Given the description of an element on the screen output the (x, y) to click on. 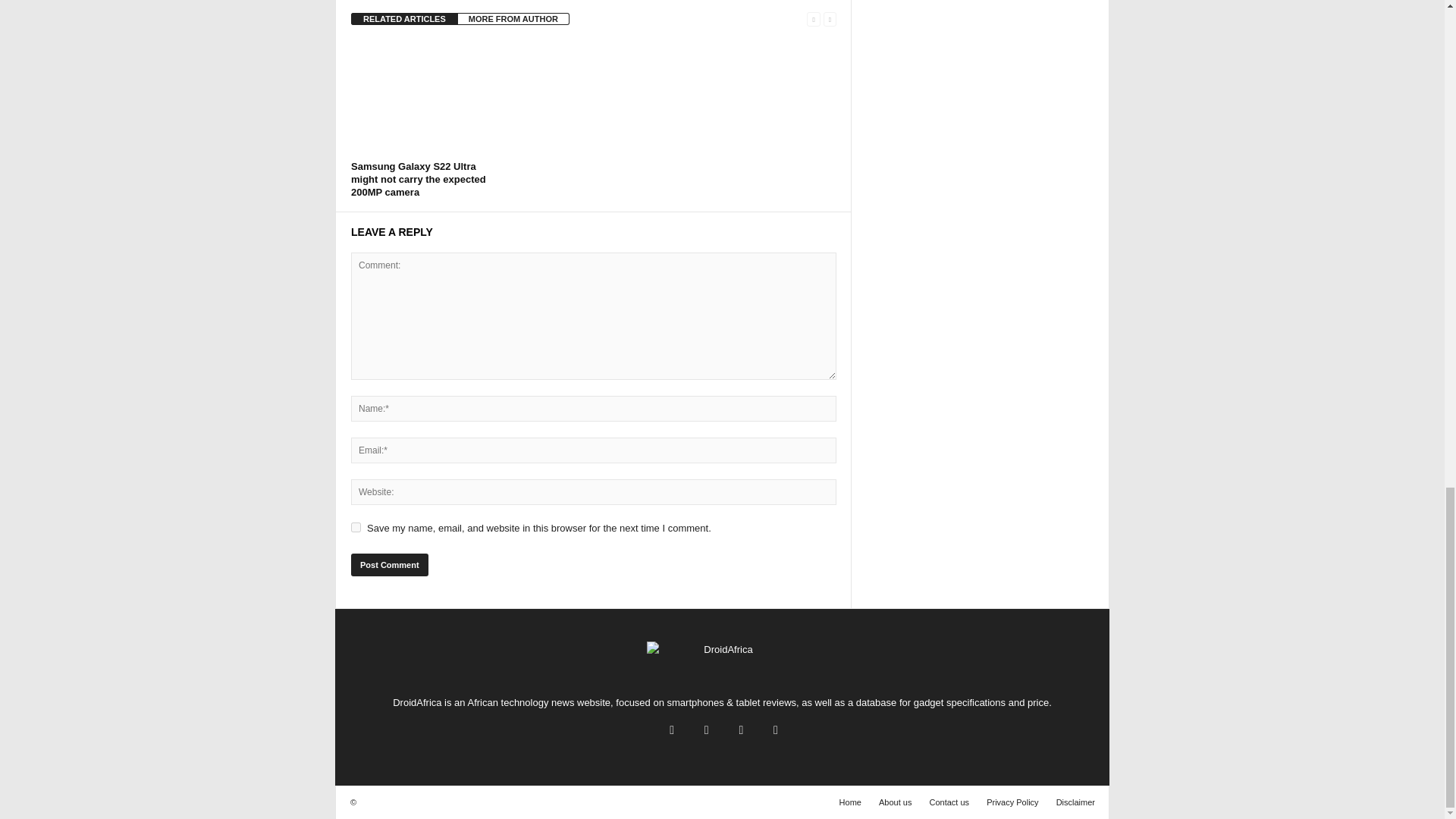
MORE FROM AUTHOR (513, 19)
Post Comment (389, 564)
RELATED ARTICLES (404, 19)
yes (355, 527)
